Given the description of an element on the screen output the (x, y) to click on. 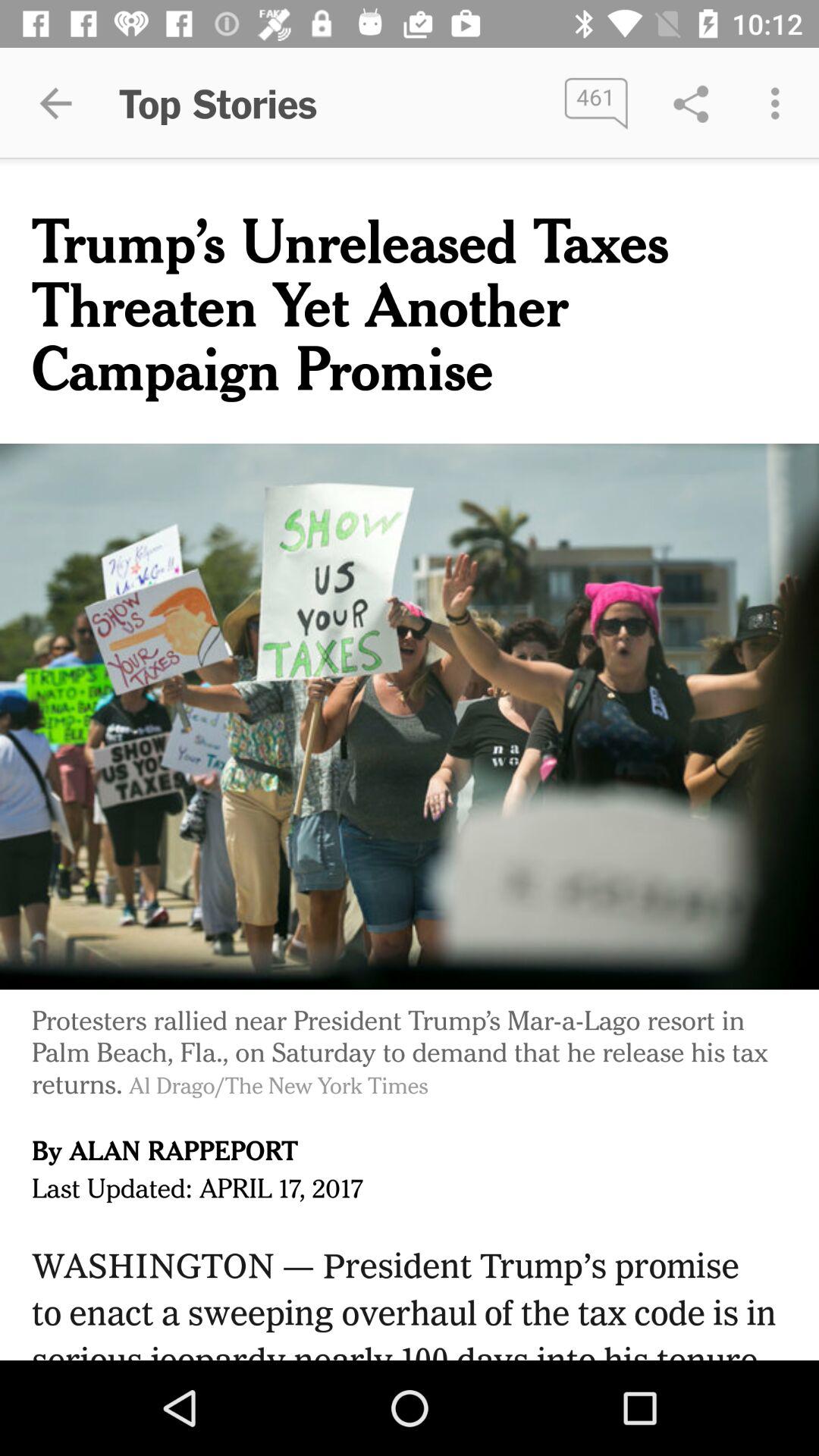
press the icon above the protesters rallied near (409, 716)
